Given the description of an element on the screen output the (x, y) to click on. 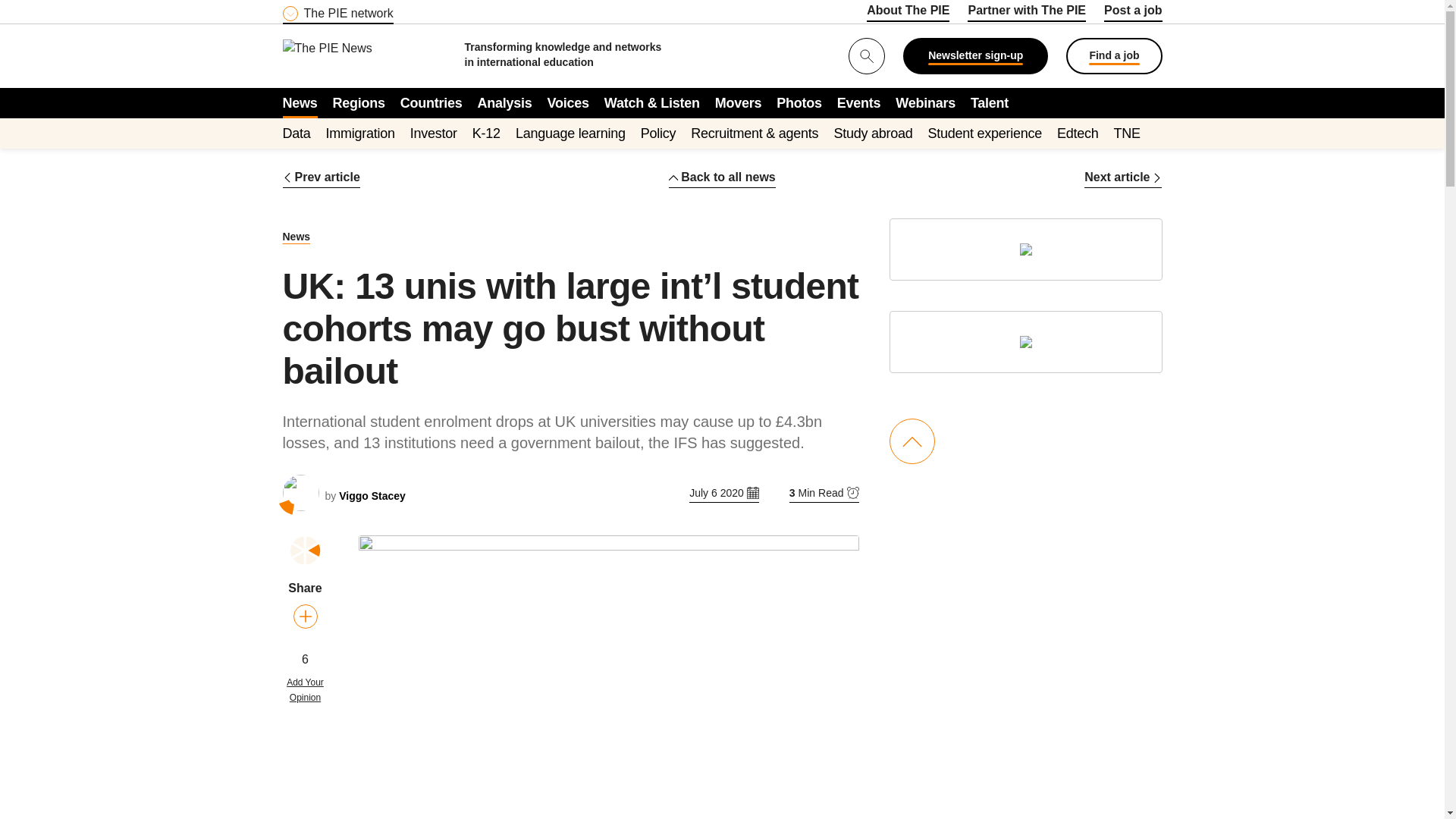
Post a job (1132, 13)
Partner with The PIE (1027, 13)
News (299, 102)
Find a job (1113, 55)
About The PIE (907, 13)
Content (373, 9)
Countries (431, 102)
Regions (359, 102)
Newsletter sign-up (975, 55)
